Given the description of an element on the screen output the (x, y) to click on. 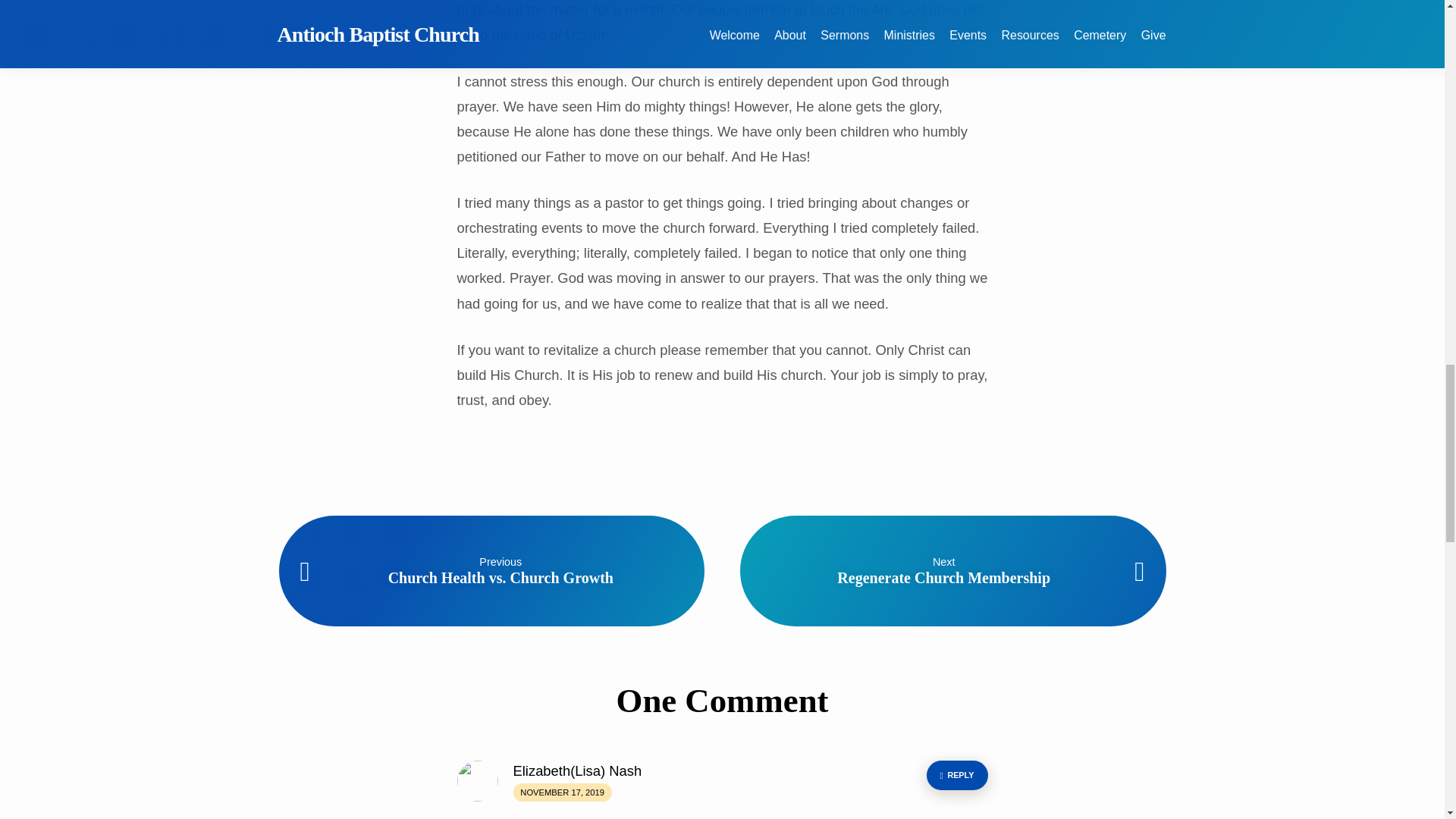
Church Health vs. Church Growth (500, 577)
NOVEMBER 17, 2019 (561, 790)
Regenerate Church Membership (943, 577)
REPLY (957, 775)
